Given the description of an element on the screen output the (x, y) to click on. 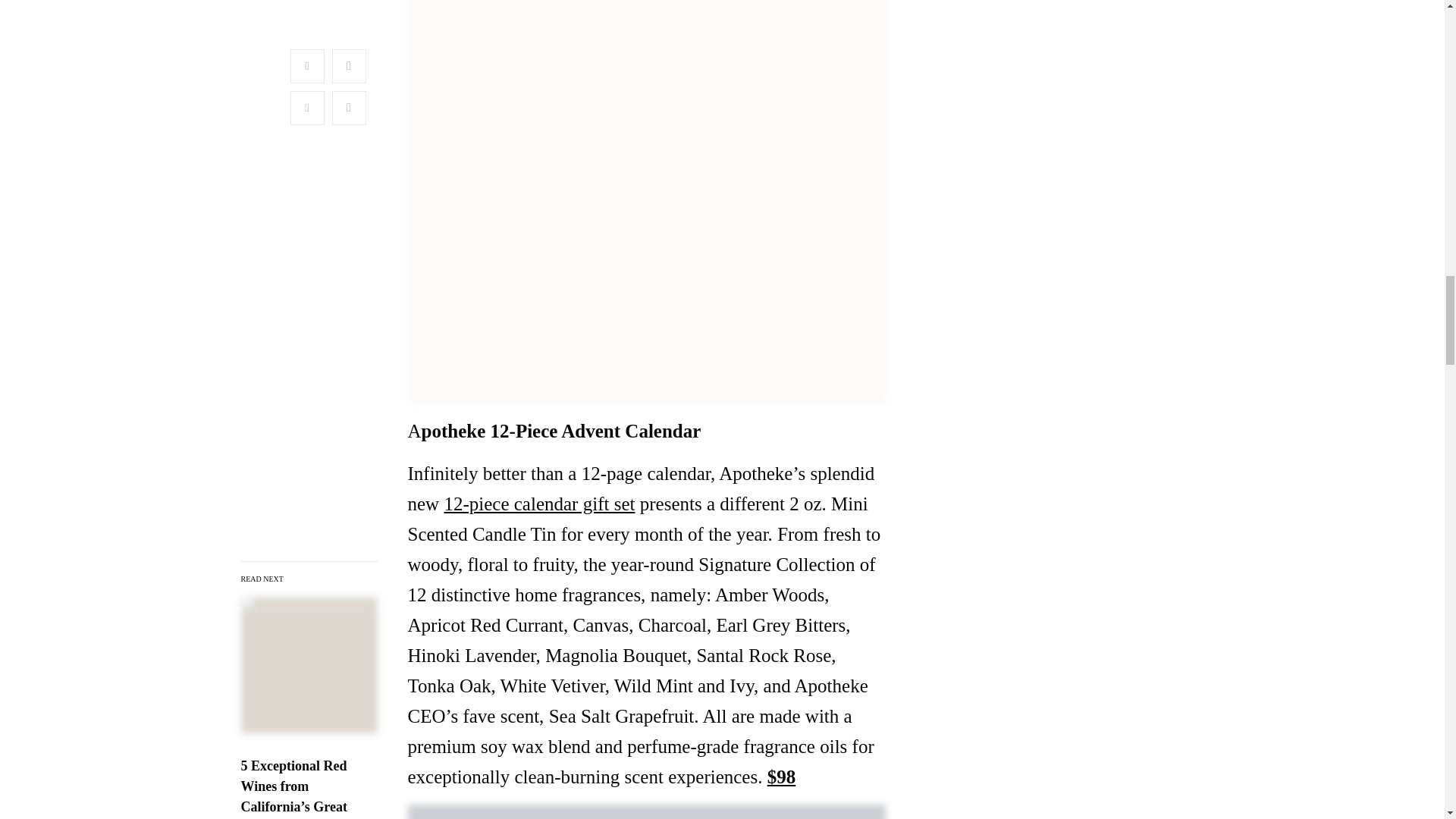
5 Scent-sational Winter Gifts (294, 788)
